Given the description of an element on the screen output the (x, y) to click on. 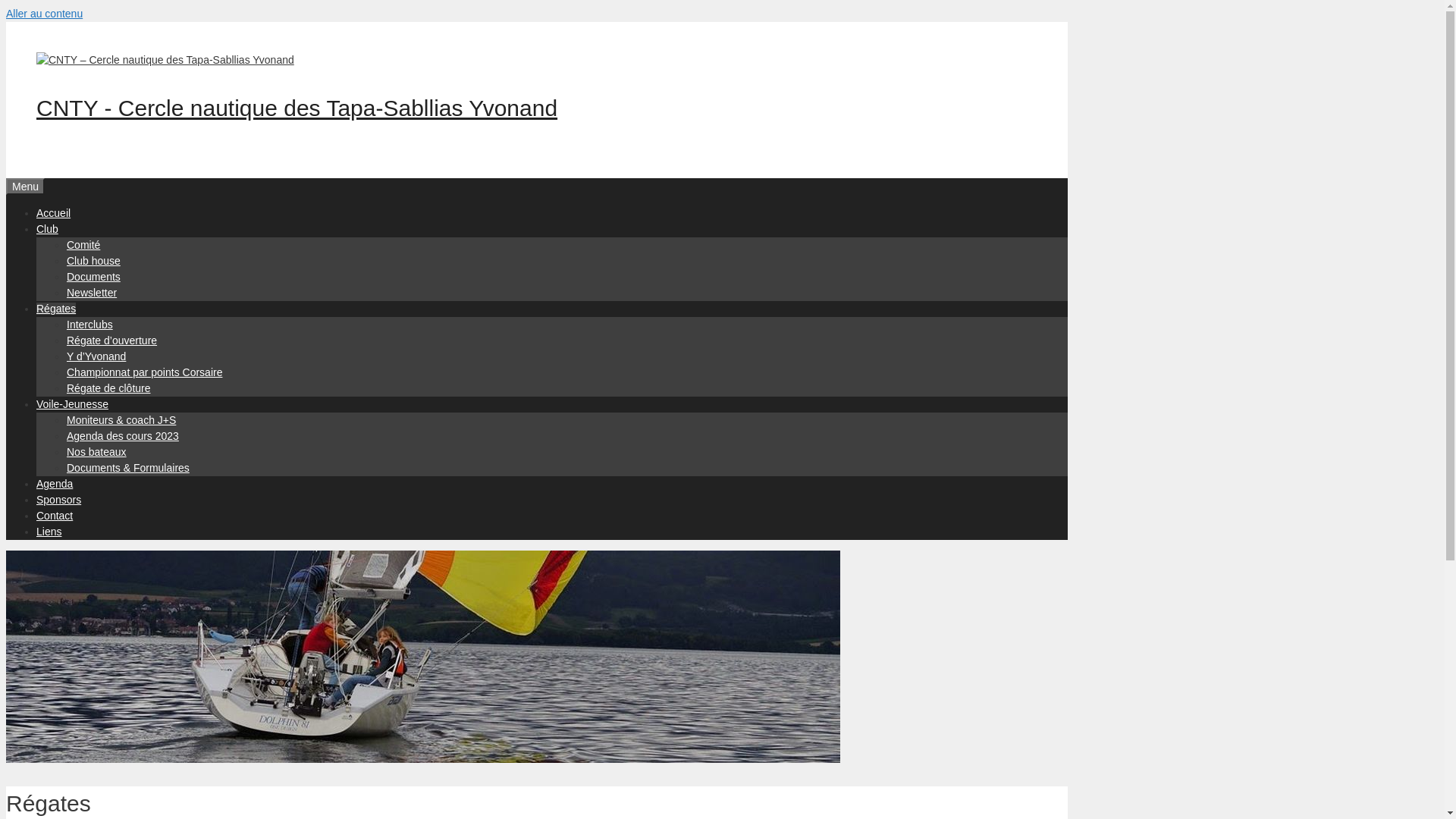
Championnat par points Corsaire Element type: text (144, 372)
CNTY - Cercle nautique des Tapa-Sabllias Yvonand Element type: text (296, 107)
Club house Element type: text (93, 260)
Liens Element type: text (48, 531)
Club Element type: text (47, 228)
Moniteurs & coach J+S Element type: text (120, 420)
Accueil Element type: text (53, 213)
Nos bateaux Element type: text (96, 451)
Aller au contenu Element type: text (44, 13)
Agenda Element type: text (54, 483)
Voile-Jeunesse Element type: text (72, 404)
Interclubs Element type: text (89, 324)
Contact Element type: text (54, 515)
Menu Element type: text (25, 186)
Agenda des cours 2023 Element type: text (122, 435)
Sponsors Element type: text (58, 499)
Documents & Formulaires Element type: text (127, 467)
Documents Element type: text (93, 276)
Newsletter Element type: text (91, 292)
